Given the description of an element on the screen output the (x, y) to click on. 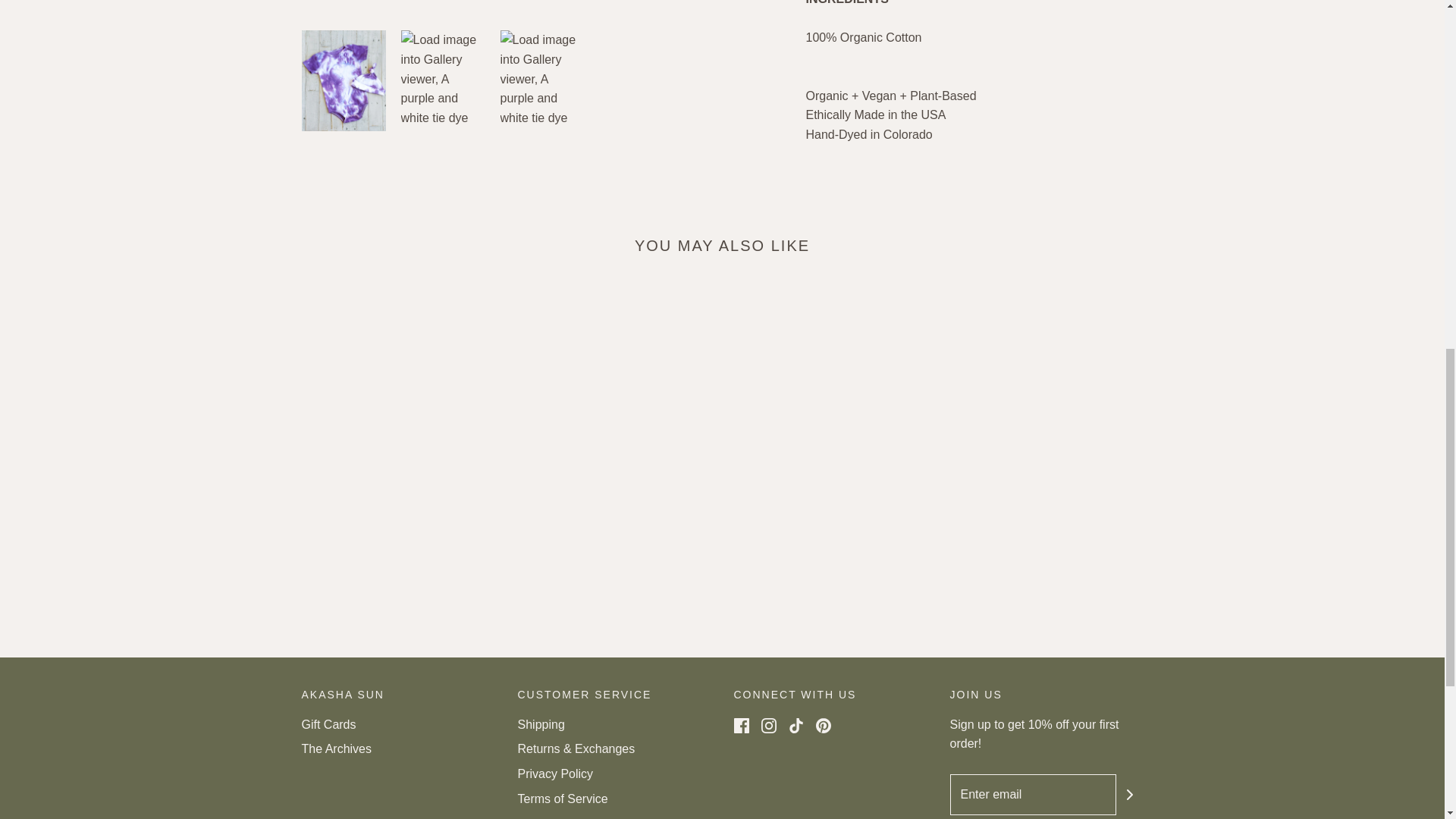
TikTok icon (796, 725)
Instagram icon (768, 725)
Facebook icon (741, 725)
Pinterest icon (823, 725)
